Given the description of an element on the screen output the (x, y) to click on. 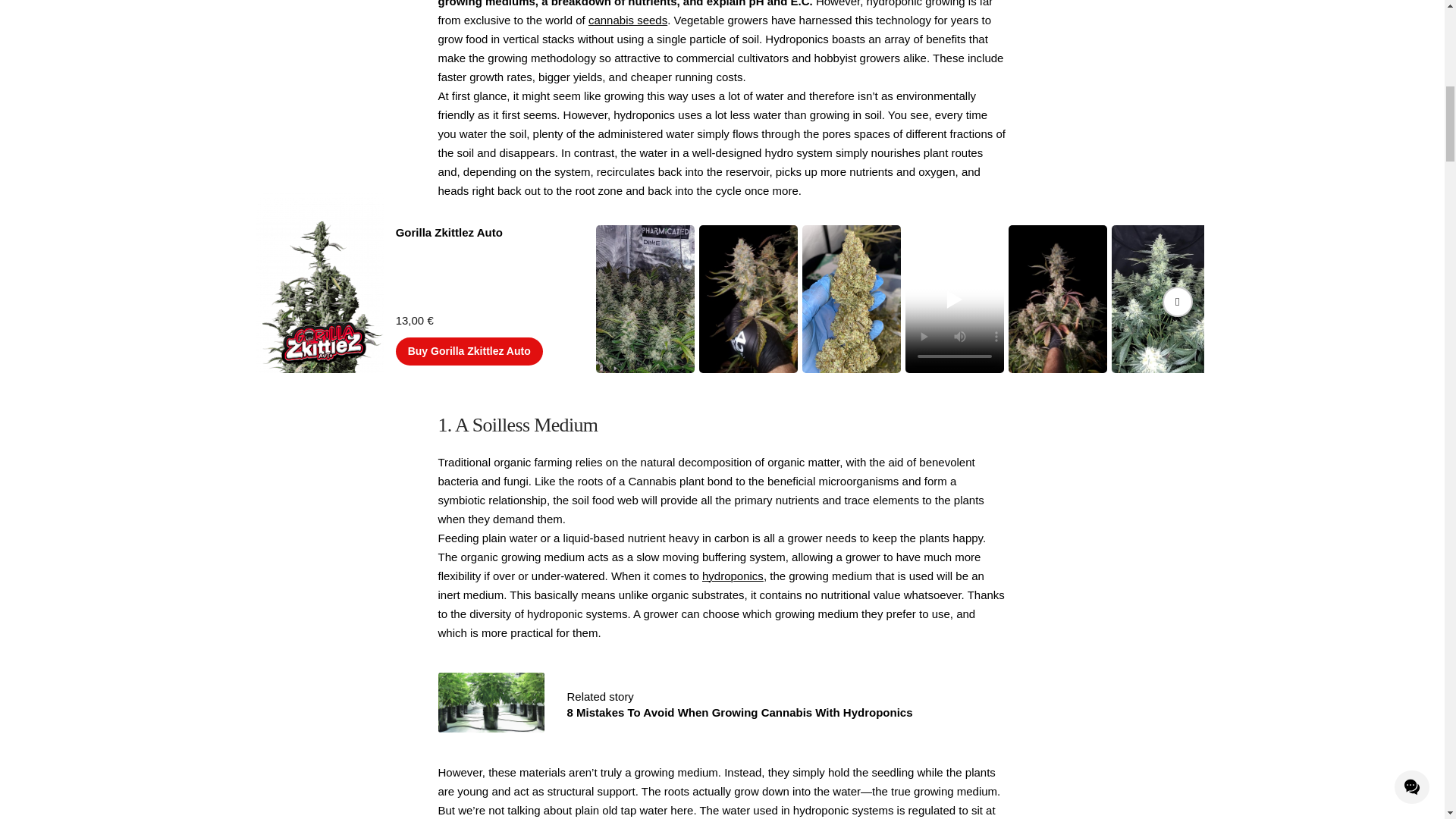
8 Mistakes To Avoid When Growing Cannabis With Hydroponics (491, 702)
